Given the description of an element on the screen output the (x, y) to click on. 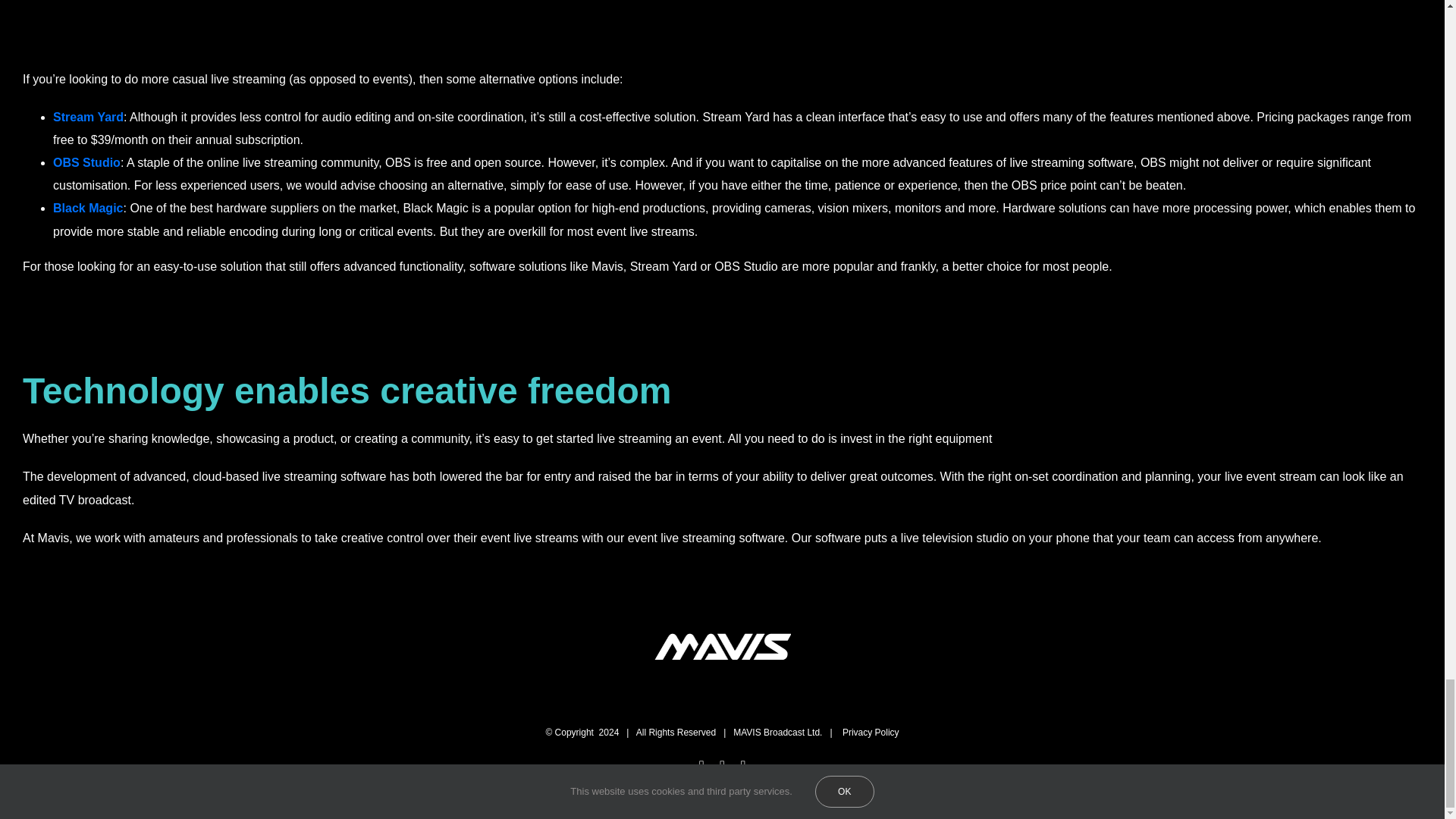
Stream Yard (87, 116)
OBS Studio (86, 162)
Privacy Policy (871, 732)
Black Magic (87, 207)
